Given the description of an element on the screen output the (x, y) to click on. 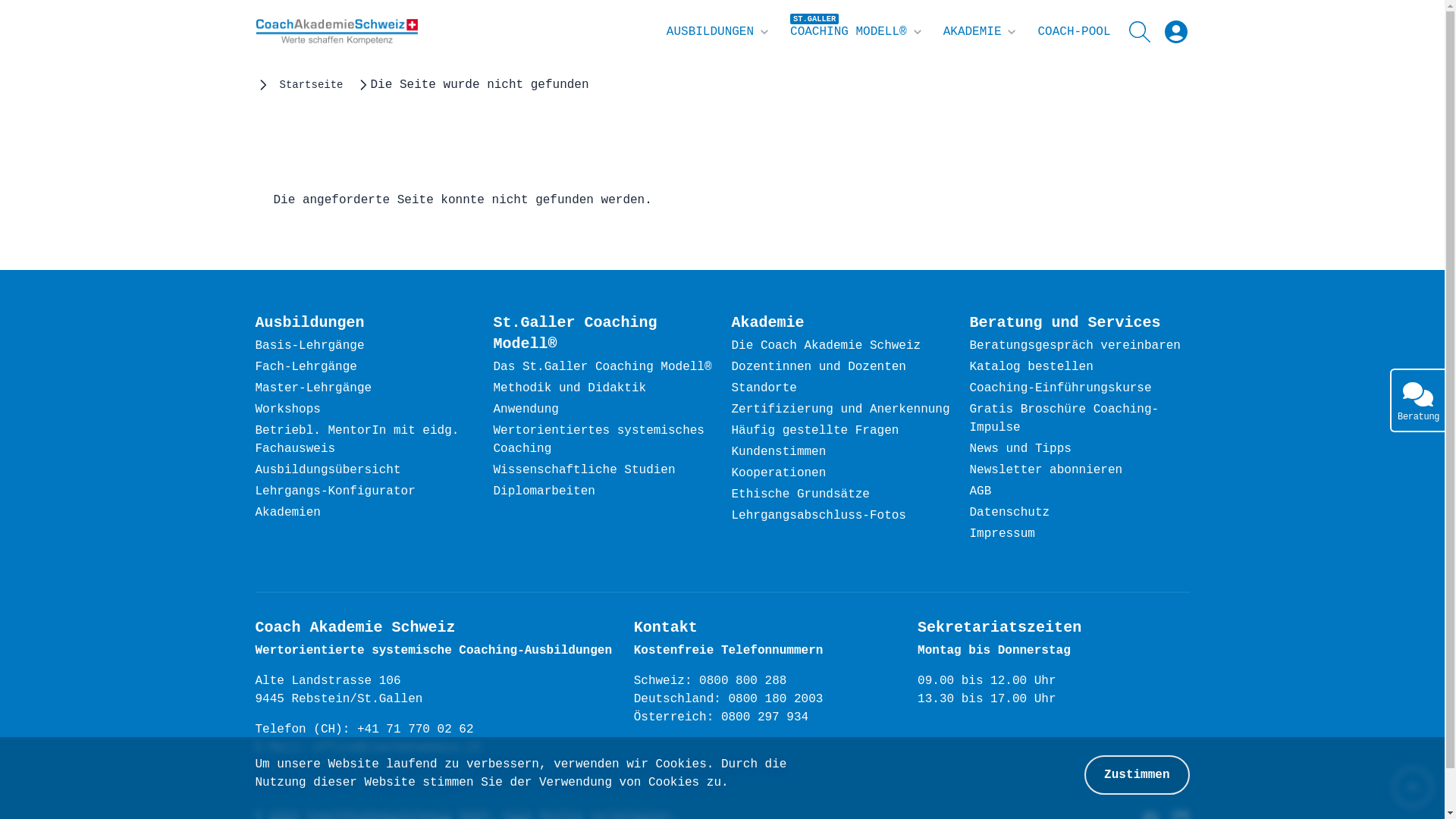
Anwendung Element type: text (525, 409)
Standorte Element type: text (763, 388)
Kundenstimmen Element type: text (778, 452)
Wissenschaftliche Studien Element type: text (583, 470)
Diplomarbeiten Element type: text (543, 491)
Workshops Element type: text (287, 409)
Lehrgangs-Konfigurator Element type: text (334, 491)
Startseite Element type: text (310, 84)
0800 180 2003 Element type: text (775, 699)
0800 297 934 Element type: text (764, 717)
Zertifizierung und Anerkennung Element type: text (840, 409)
Datenschutz Element type: text (1009, 512)
Beratung Element type: text (1417, 400)
MyCAS-Login Element type: hover (1175, 31)
News und Tipps Element type: text (1019, 449)
Lehrgangsabschluss-Fotos Element type: text (818, 516)
Impressum Element type: text (1001, 534)
Dozentinnen und Dozenten Element type: text (818, 367)
Akademien Element type: text (287, 512)
Newsletter abonnieren Element type: text (1045, 470)
SUCHE Element type: text (1141, 31)
Betriebl. MentorIn mit eidg. Fachausweis Element type: text (356, 440)
+41 71 770 02 62 Element type: text (415, 729)
Zustimmen Element type: text (1136, 774)
Die Coach Akademie Schweiz Element type: text (825, 346)
0800 800 288 Element type: text (742, 681)
CoachAkademieSchweiz Element type: text (335, 31)
Kooperationen Element type: text (778, 473)
Methodik und Didaktik Element type: text (569, 388)
Katalog bestellen Element type: text (1030, 367)
COACH-POOL Element type: text (1073, 31)
Zum Seitenanfang Element type: text (1412, 786)
AGB Element type: text (980, 491)
Wertorientiertes systemisches Coaching Element type: text (597, 440)
AKADEMIE Element type: text (981, 31)
office@coachakademie.ch Element type: text (396, 748)
AUSBILDUNGEN Element type: text (718, 31)
